Given the description of an element on the screen output the (x, y) to click on. 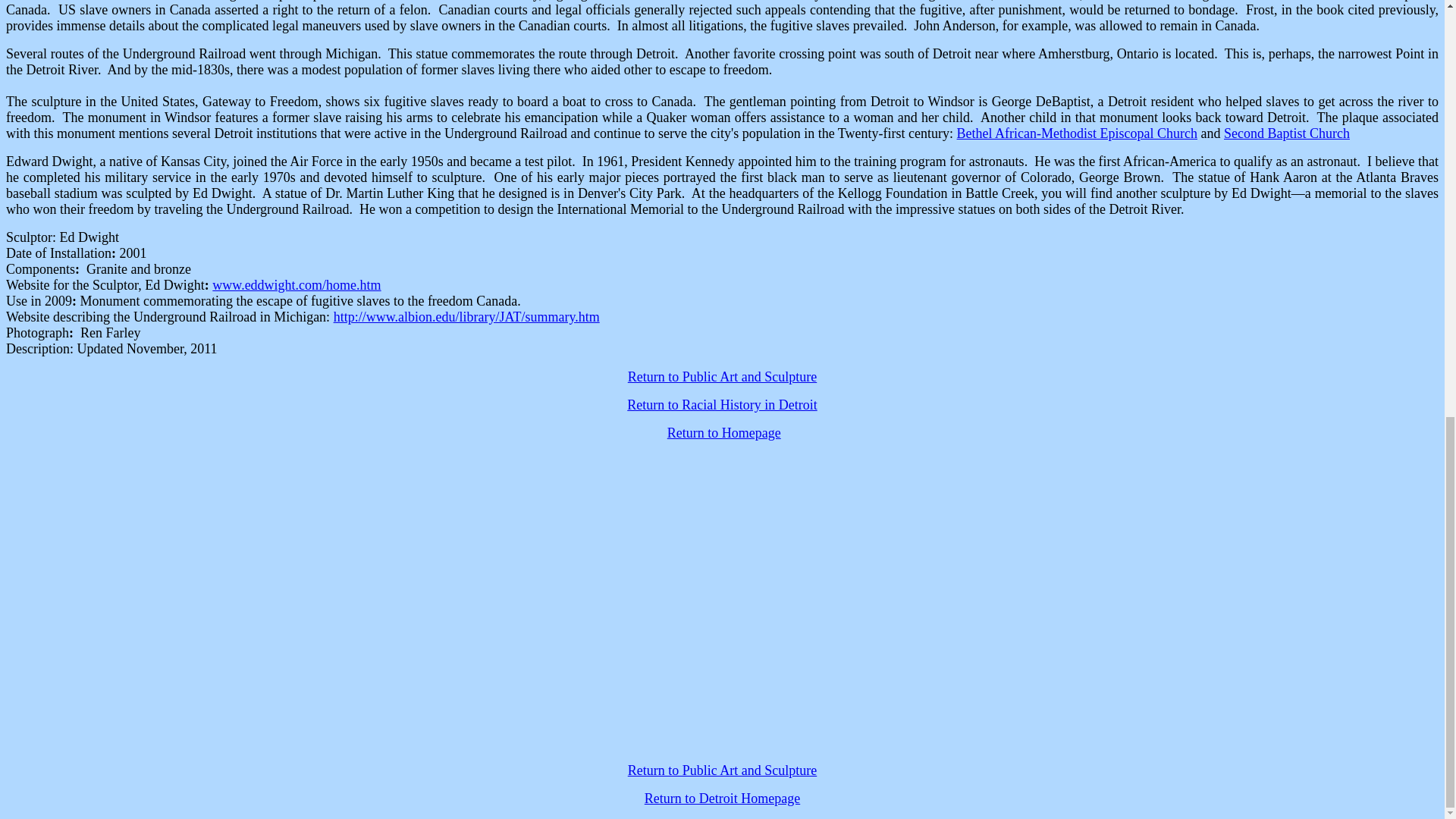
Return to Racial History in Detroit (721, 404)
Bethel African-Methodist Episcopal Church (1076, 133)
Return to Detroit Homepage (722, 798)
Return to Public Art and Sculpture (721, 376)
Return to Homepage (723, 432)
Return to Public Art and Sculpture (721, 770)
Second Baptist Church (1286, 133)
